Given the description of an element on the screen output the (x, y) to click on. 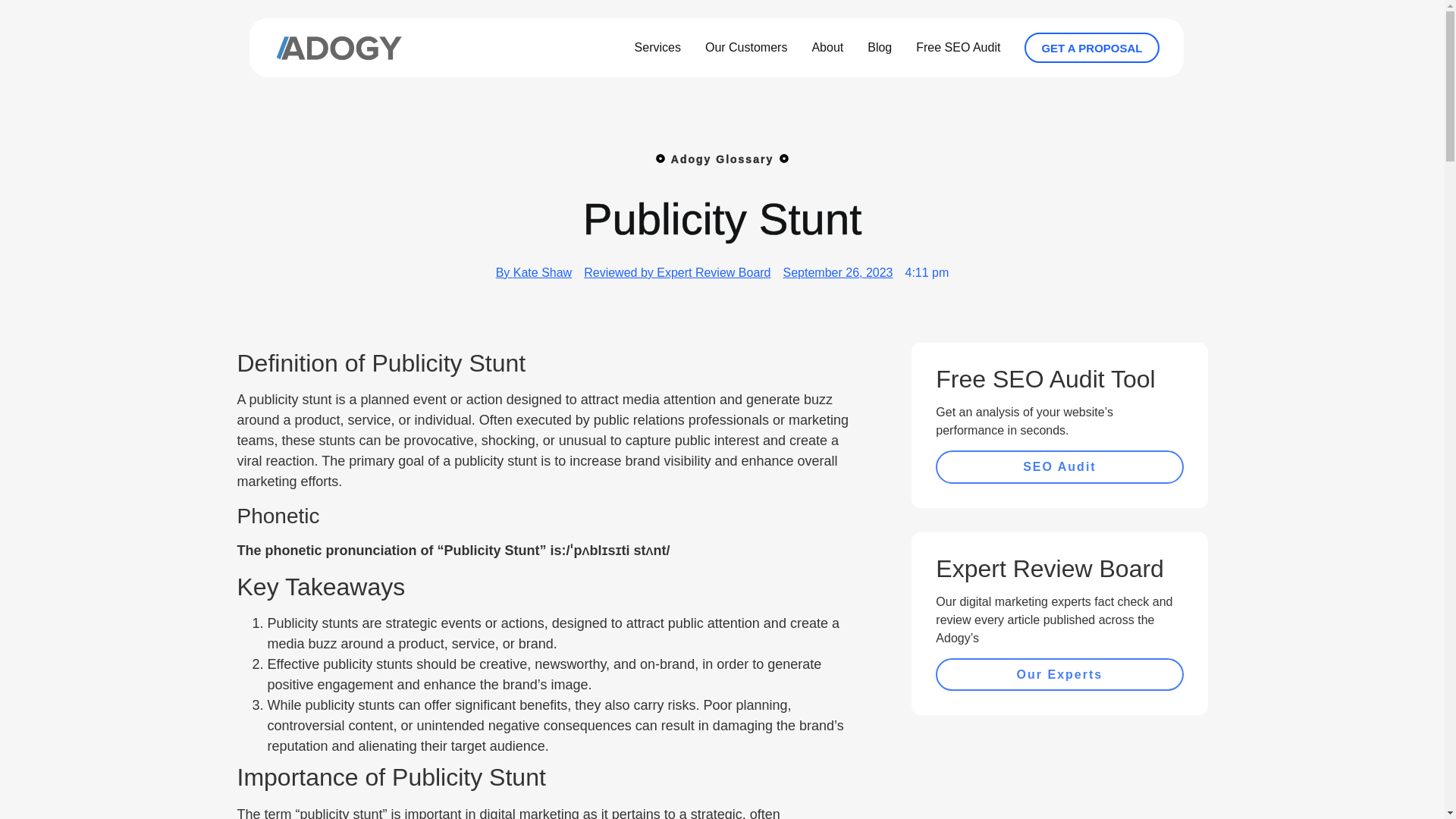
September 26, 2023 (838, 272)
Blog (880, 47)
GET A PROPOSAL (1091, 47)
About (827, 47)
Services (658, 47)
Reviewed by Expert Review Board (676, 272)
Our Customers (746, 47)
Free SEO Audit (957, 47)
By Kate Shaw (534, 272)
